Given the description of an element on the screen output the (x, y) to click on. 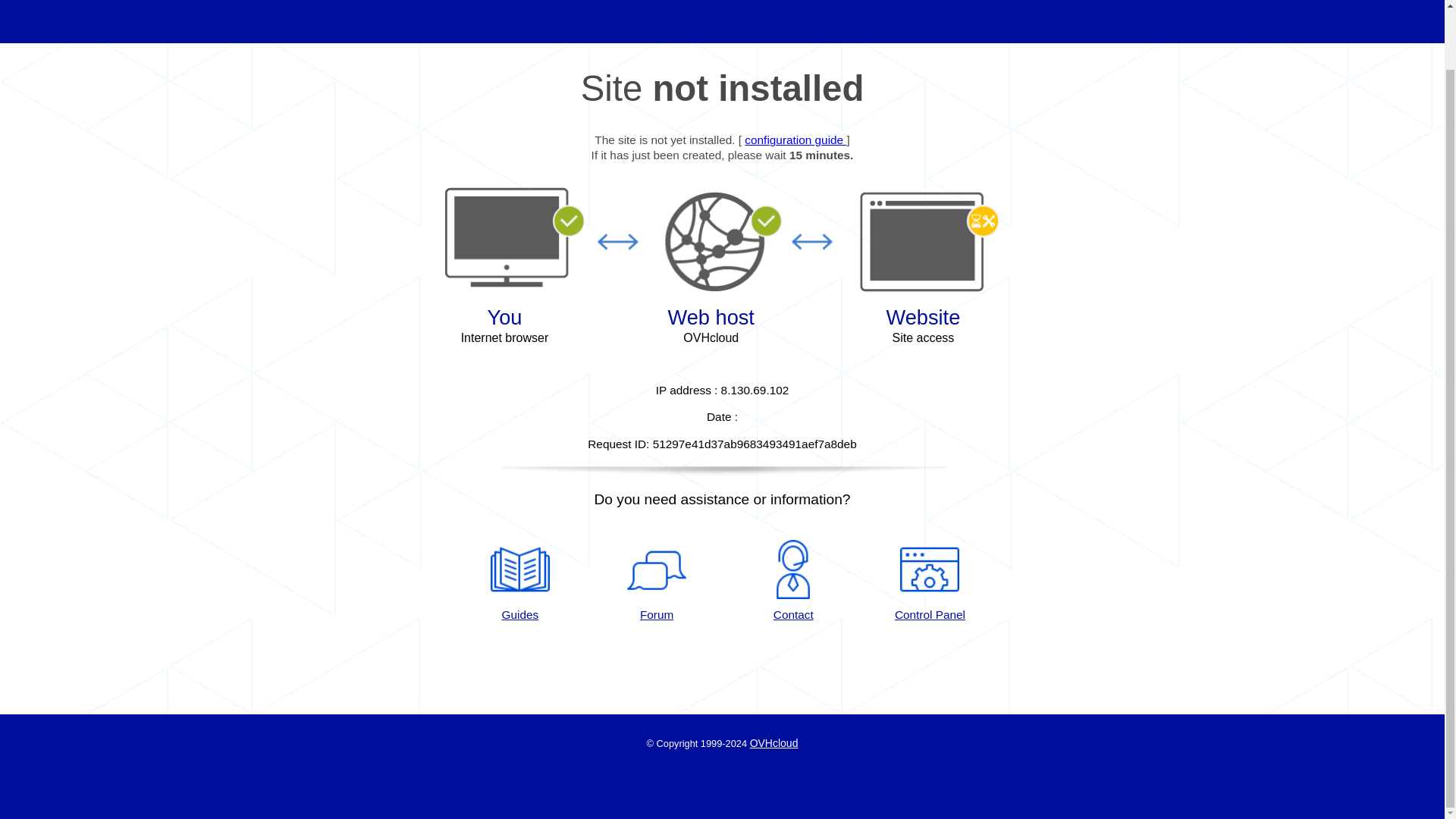
Guides (519, 581)
Forum (656, 581)
Control Panel (930, 581)
Guides (794, 139)
Contact (793, 581)
OVHcloud (773, 743)
configuration guide (794, 139)
Forum (656, 581)
Contact (793, 581)
Control Panel (930, 581)
Guides (519, 581)
